Given the description of an element on the screen output the (x, y) to click on. 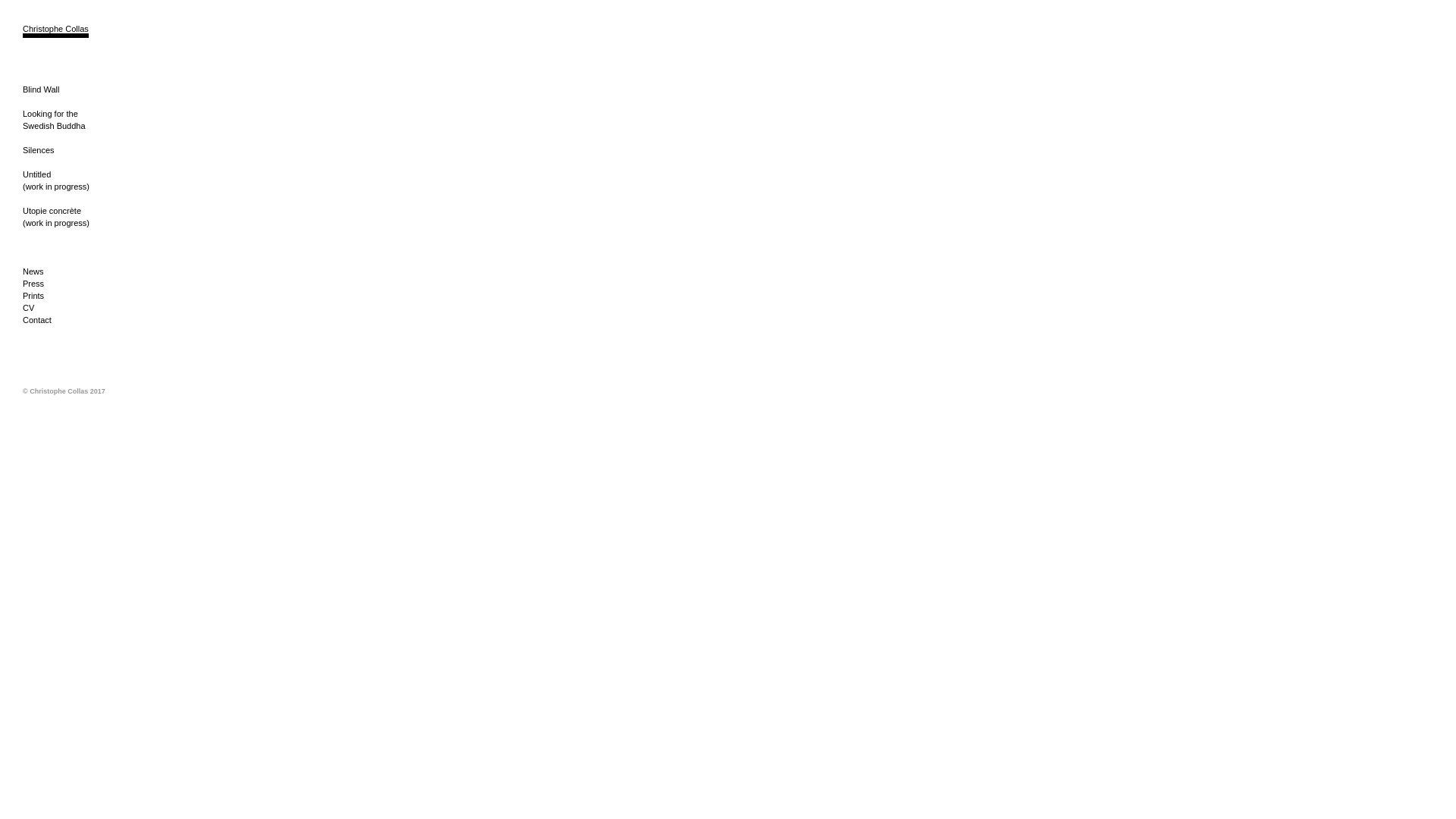
Contact Element type: text (36, 319)
Blind Wall Element type: text (40, 89)
Untitled
(work in progress Element type: text (54, 180)
Looking for the
Swedish Buddha Element type: text (53, 119)
Prints Element type: text (32, 295)
CV Element type: text (28, 307)
News Element type: text (32, 271)
Press Element type: text (32, 283)
Christophe Collas Element type: text (55, 30)
Silences Element type: text (38, 149)
